Given the description of an element on the screen output the (x, y) to click on. 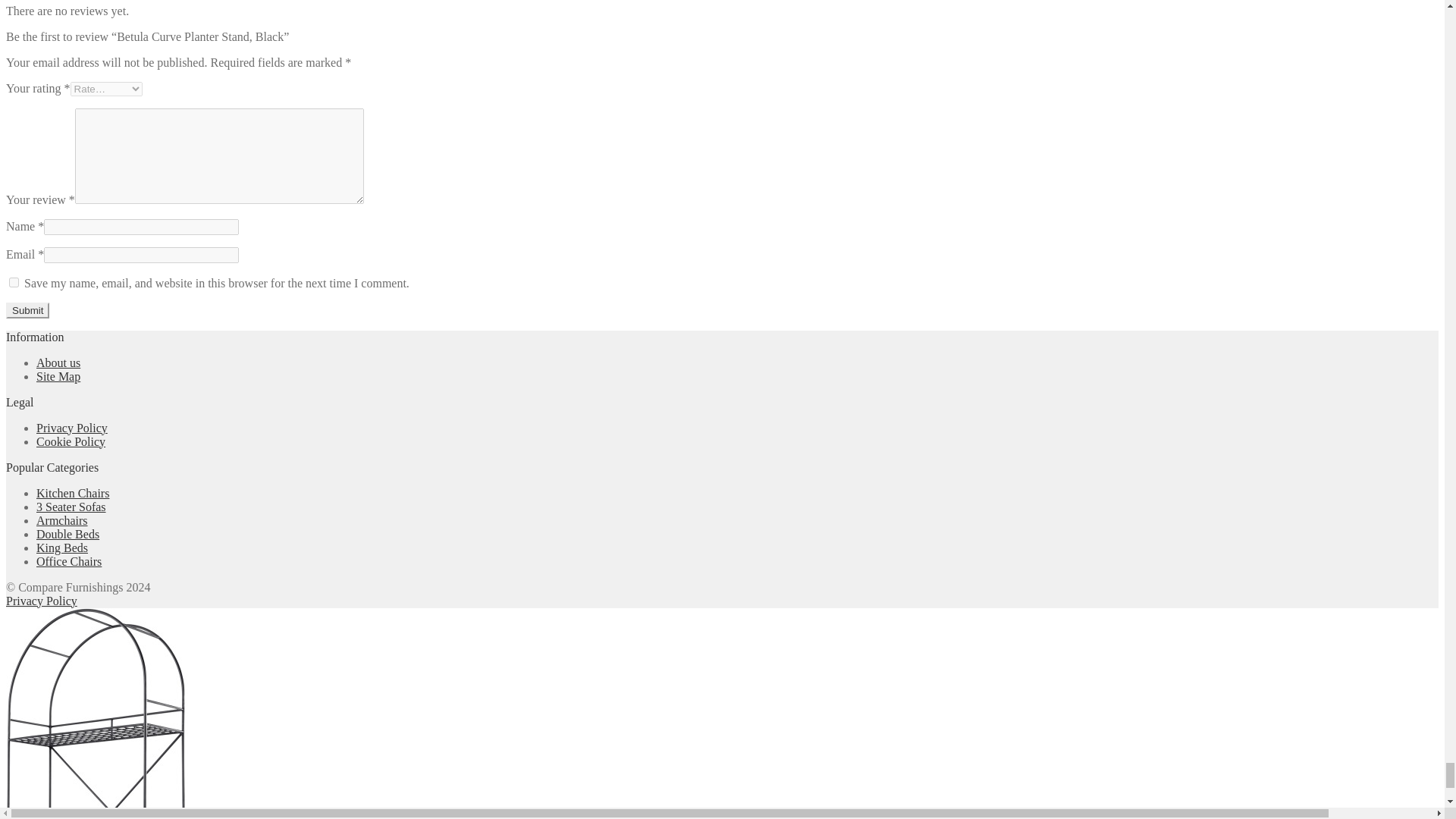
Submit (27, 310)
yes (13, 282)
